Given the description of an element on the screen output the (x, y) to click on. 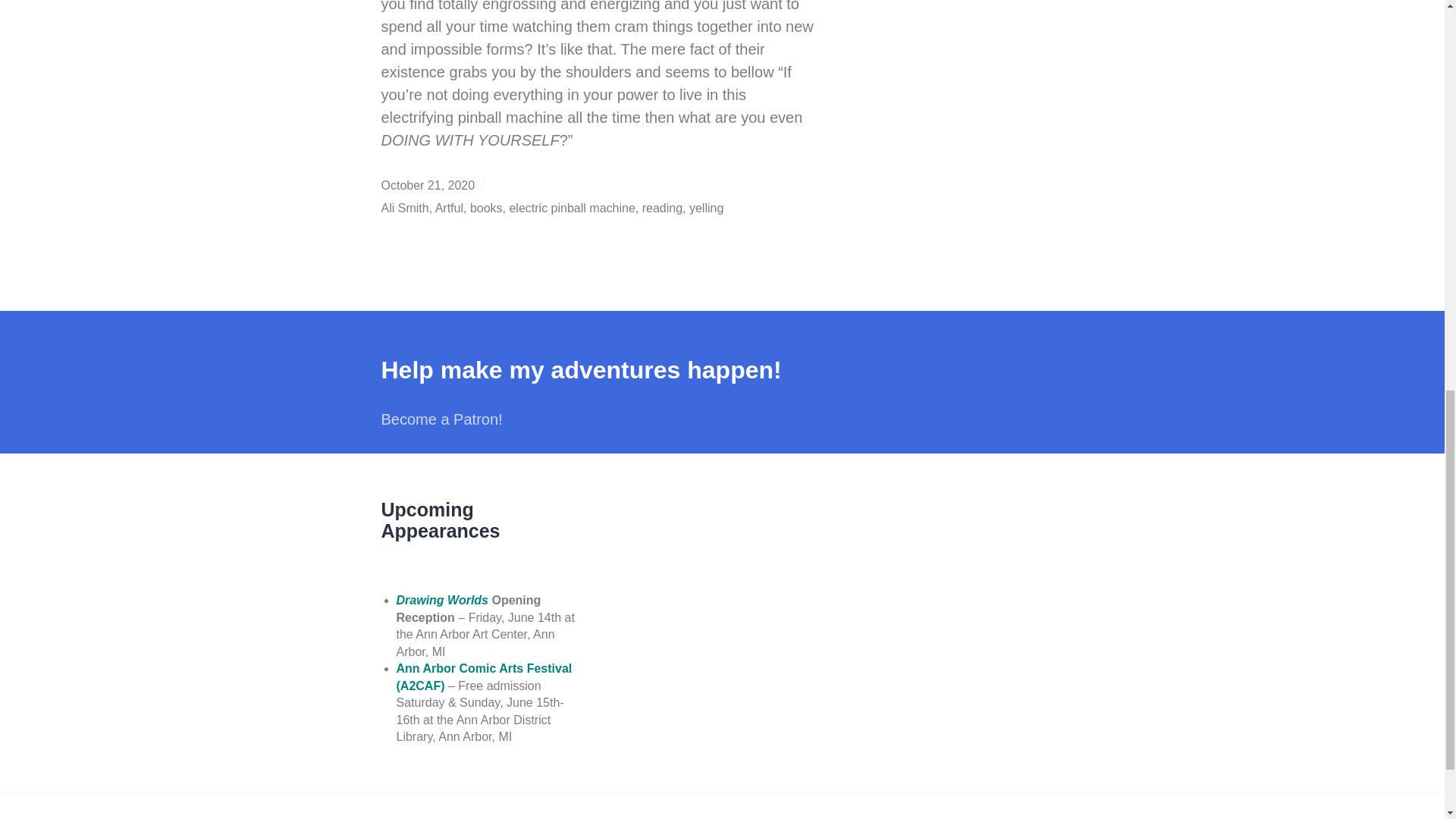
electric pinball machine (571, 207)
Ali Smith (404, 207)
yelling (705, 207)
books (486, 207)
October 21, 2020 (427, 185)
Artful (449, 207)
Become a Patron! (441, 419)
reading (662, 207)
Drawing Worlds (441, 599)
